Given the description of an element on the screen output the (x, y) to click on. 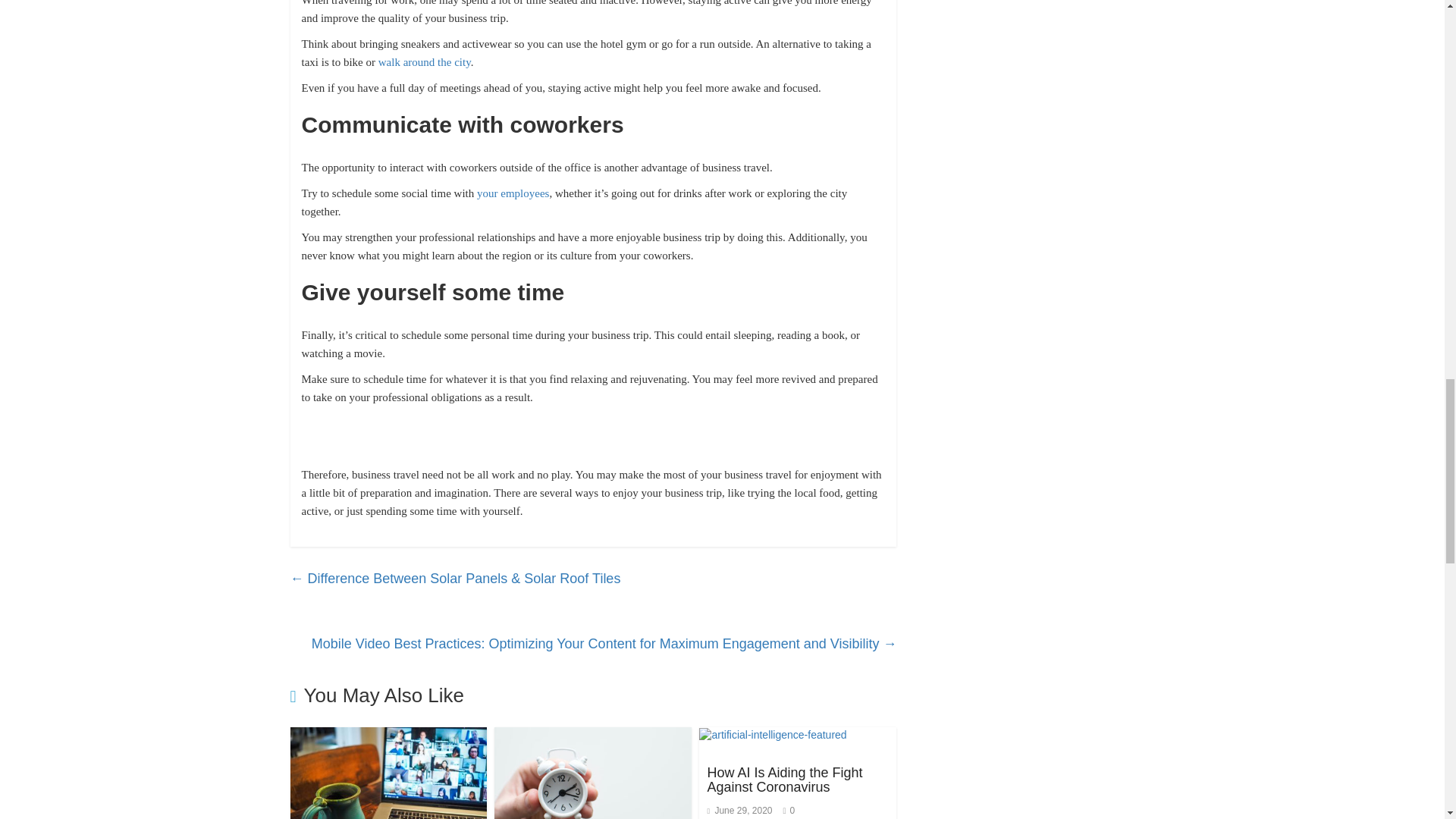
your employees (512, 193)
The 7 Secrets of Successful Virtual Meetings (387, 777)
How AI Is Aiding the Fight Against Coronavirus (771, 734)
How AI Is Aiding the Fight Against Coronavirus (783, 779)
7:58 pm (738, 810)
walk around the city (422, 61)
